Given the description of an element on the screen output the (x, y) to click on. 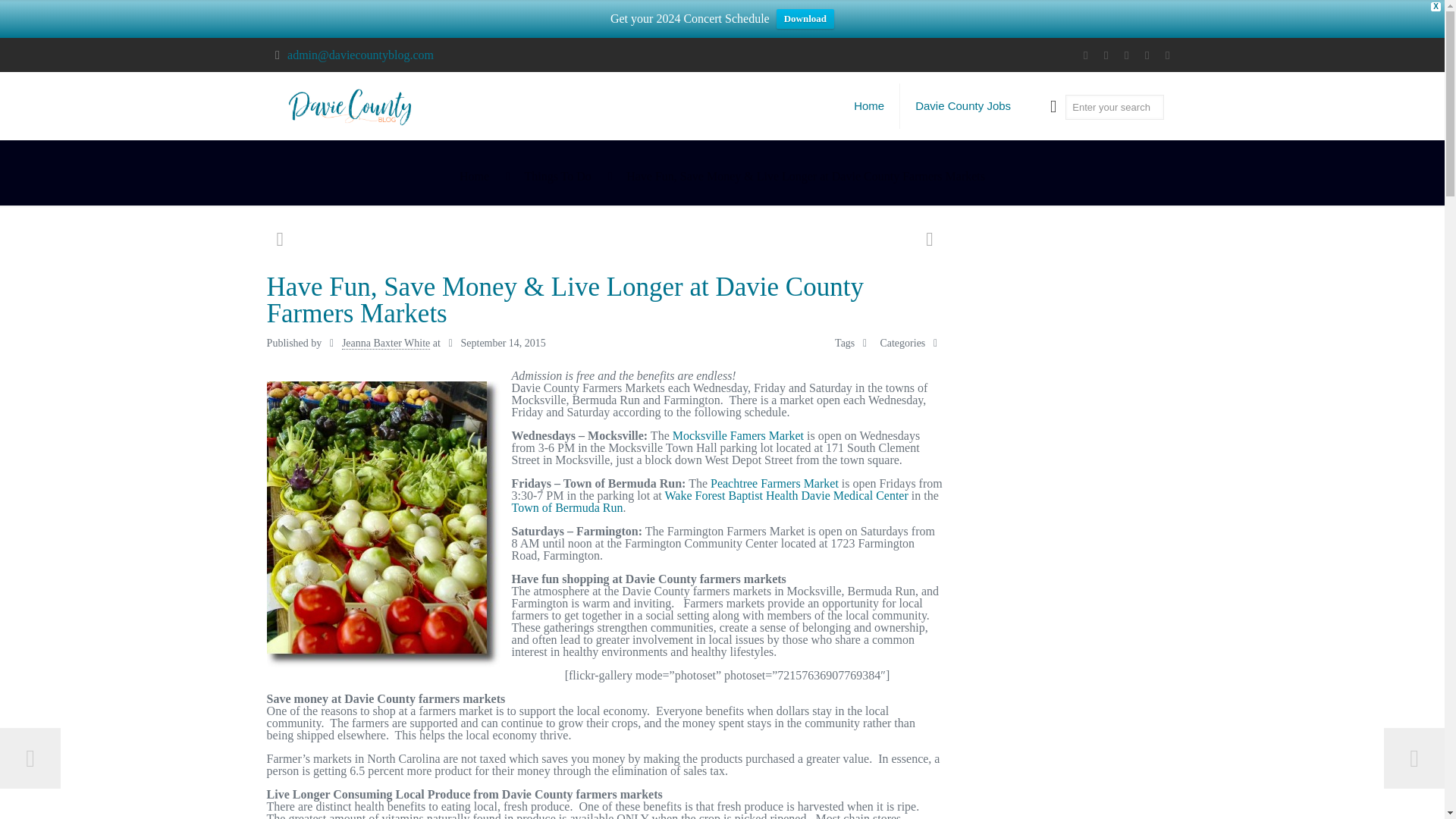
Jeanna Baxter White (385, 343)
Facebook (1085, 55)
Home (868, 106)
Wake Forest Baptist Health Davie Medical Center (786, 495)
Twitter (1105, 55)
Mocksville Famers Market (737, 435)
Town of Bermuda Run (567, 507)
Things To Do (557, 175)
Peachtree Farmers Market (774, 482)
Flickr (1126, 55)
Home (474, 175)
Davie County Jobs (962, 106)
Download (805, 18)
RSS (1146, 55)
Davie County Blog (351, 106)
